Given the description of an element on the screen output the (x, y) to click on. 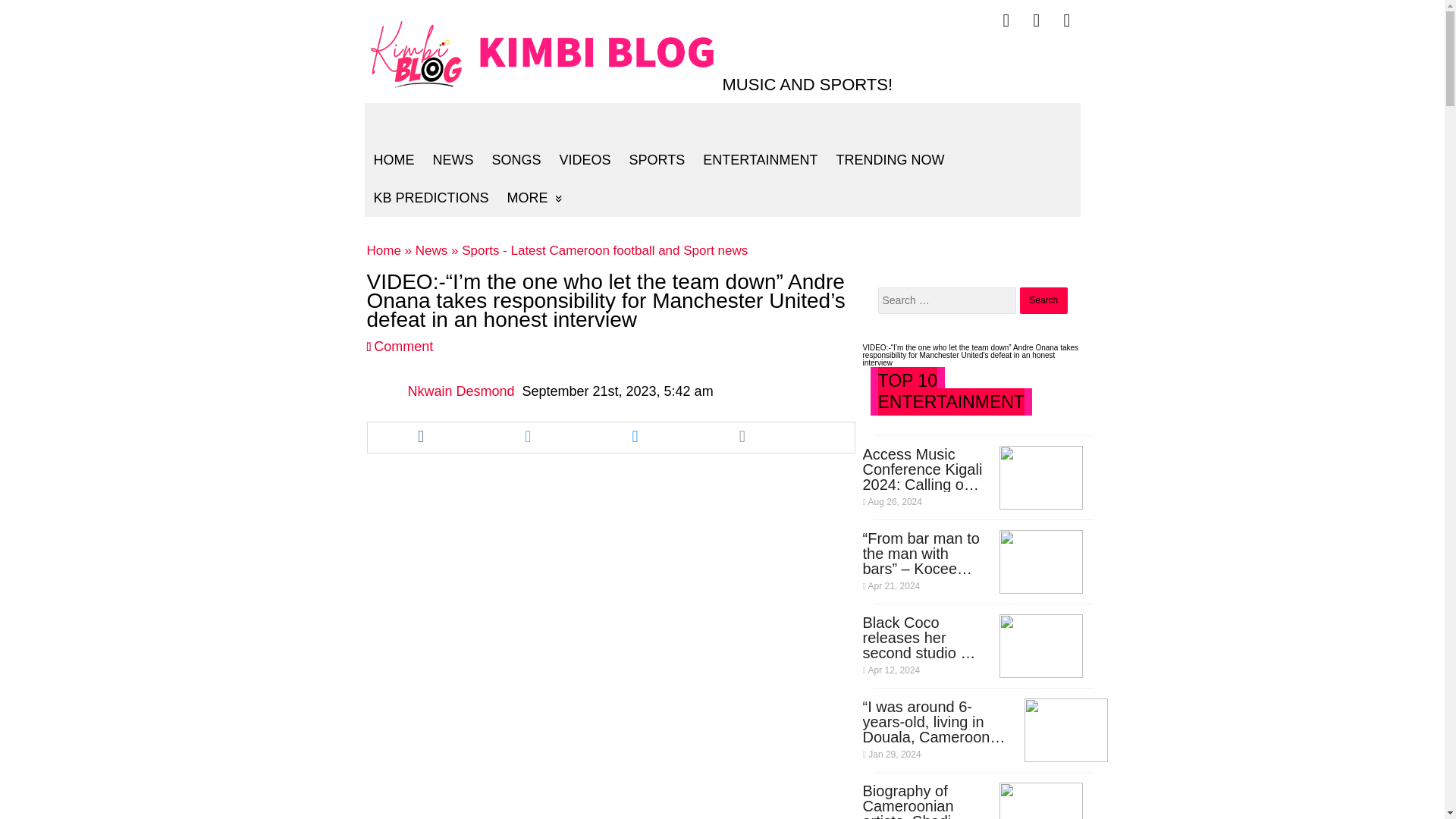
Home (383, 250)
Search (1043, 300)
NEWS (452, 159)
Nkwain Desmond (460, 391)
Search (1043, 300)
Comment (403, 346)
Sports - Latest Cameroon football and Sport news (604, 250)
SONGS (515, 159)
